Given the description of an element on the screen output the (x, y) to click on. 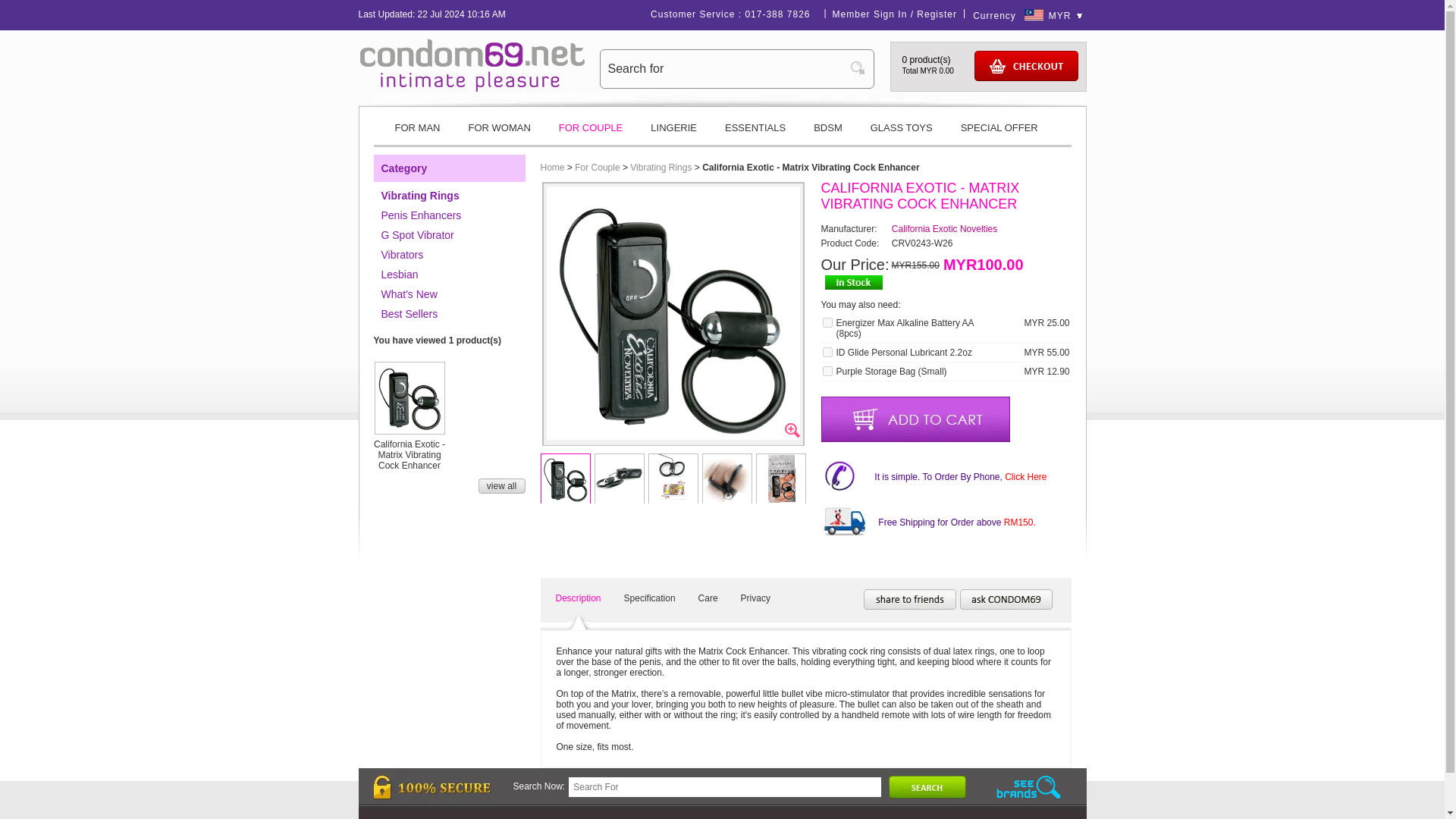
Cart (1025, 65)
FOR WOMAN (498, 133)
Sign In (890, 14)
Search (861, 68)
Search for (724, 68)
FOR MAN (416, 133)
on (826, 322)
on (826, 370)
MYR (1065, 15)
Register (936, 14)
on (826, 352)
Search for (724, 68)
FOR COUPLE (590, 133)
Condom69 (471, 88)
Condom69 (471, 64)
